Given the description of an element on the screen output the (x, y) to click on. 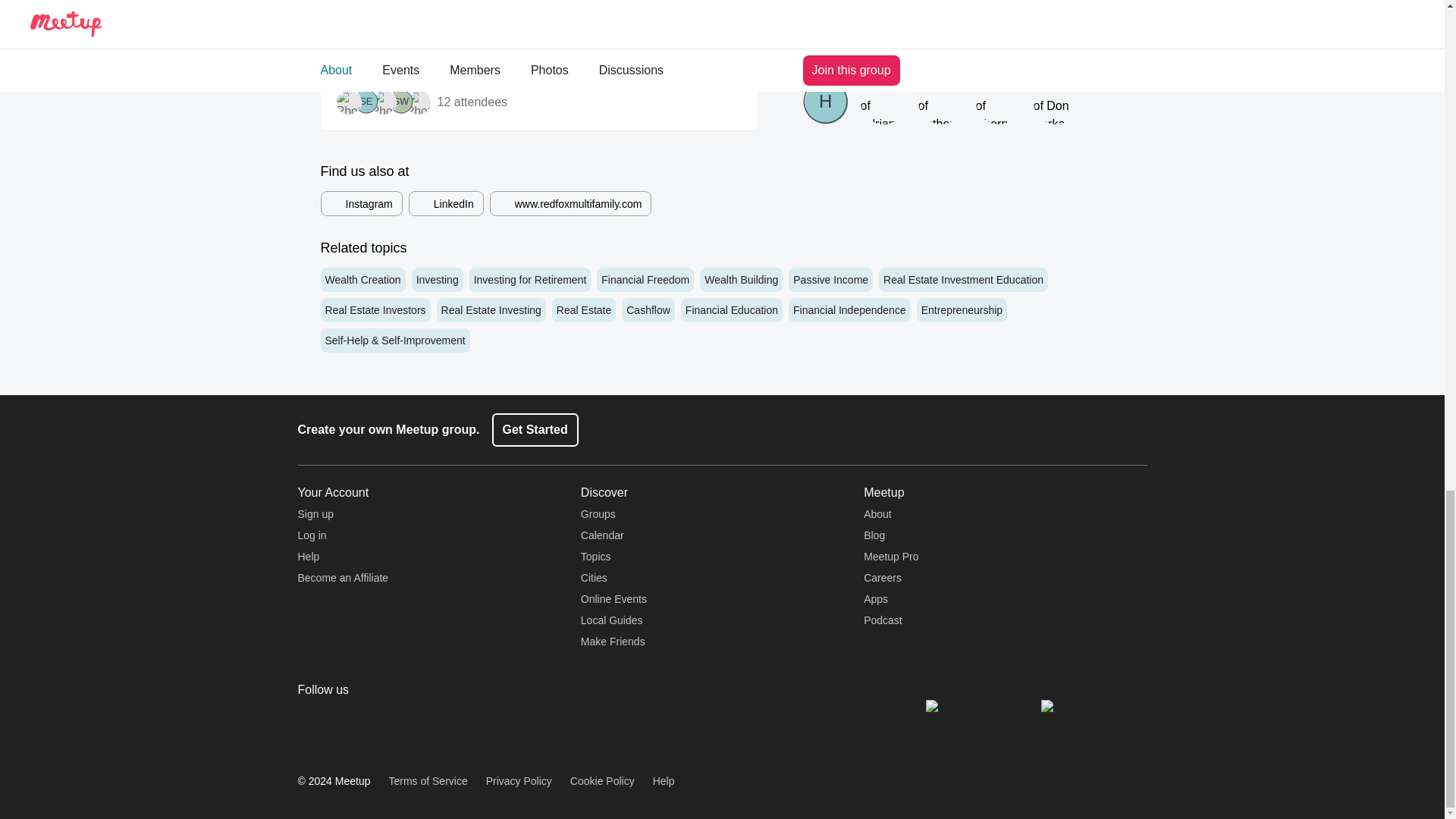
LinkedIn (446, 203)
Wealth Creation (362, 279)
www.redfoxmultifamily.com (570, 203)
SE (365, 101)
Wealth Building (741, 279)
SW (400, 101)
Investing for Retirement (529, 279)
Financial Freedom (645, 279)
Investing (437, 279)
Instagram (360, 203)
